Given the description of an element on the screen output the (x, y) to click on. 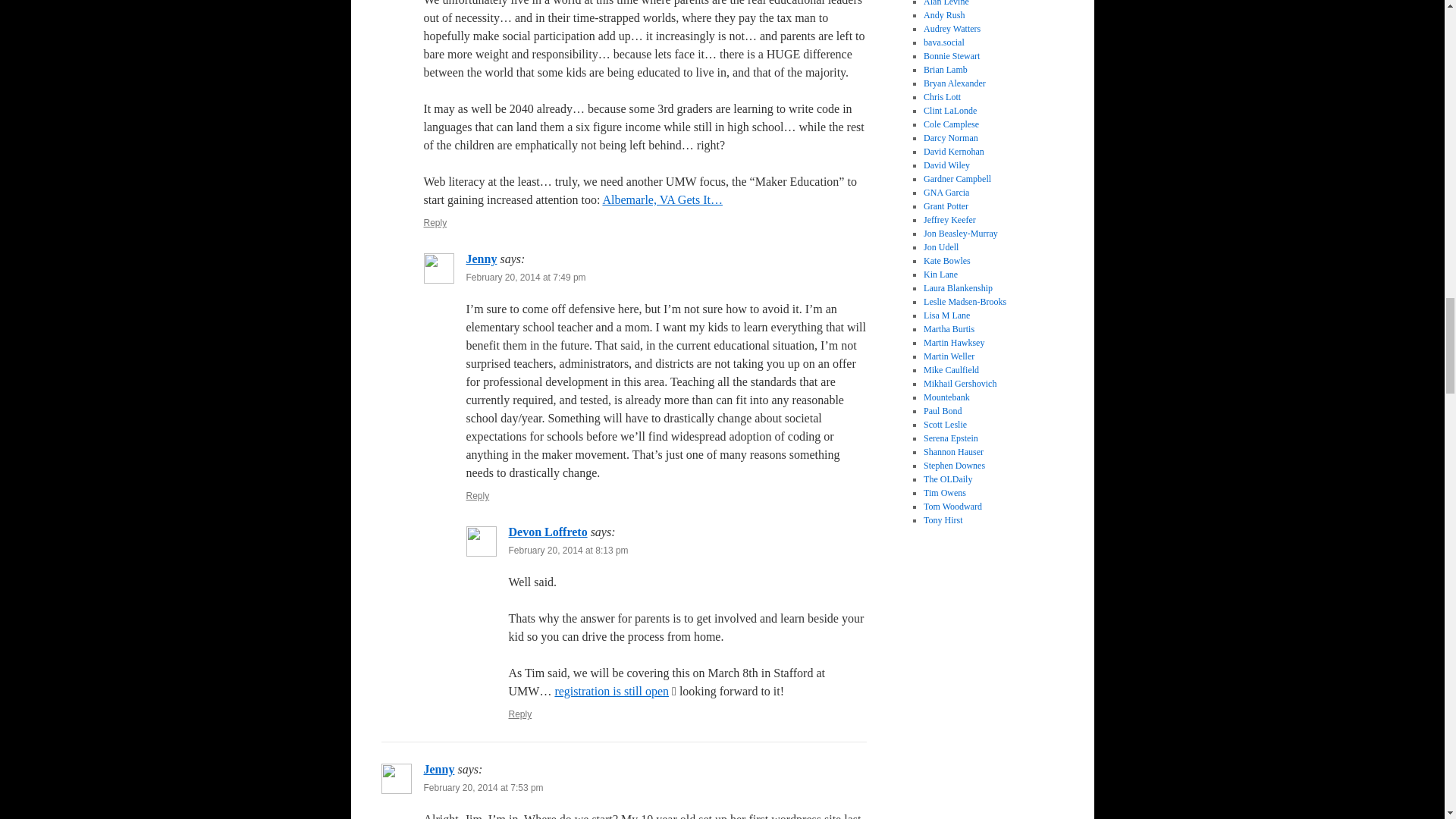
Lauren Blankenship lays it down (957, 287)
registration page (611, 690)
